Given the description of an element on the screen output the (x, y) to click on. 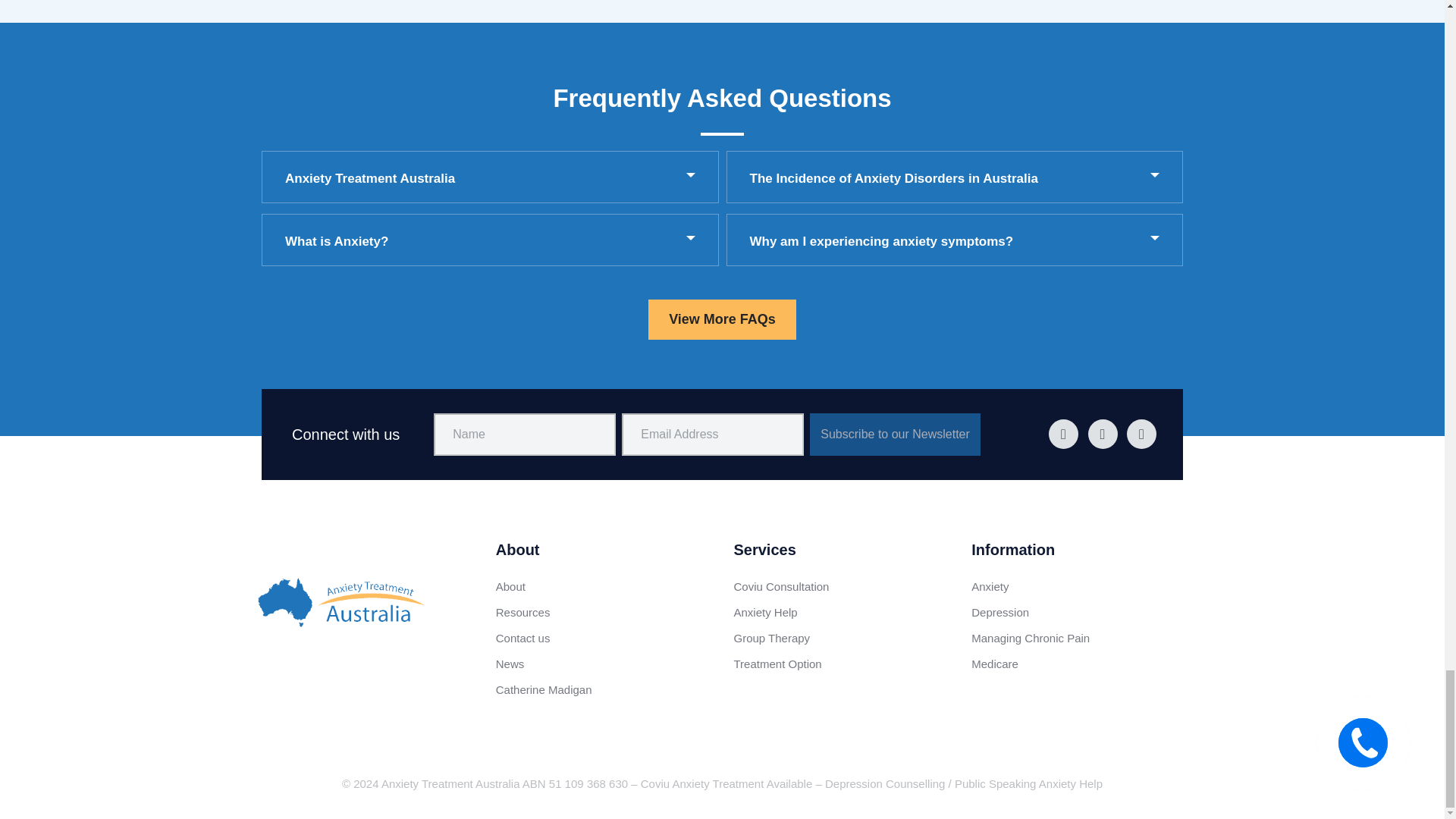
Subscribe to our Newsletter (894, 434)
